Given the description of an element on the screen output the (x, y) to click on. 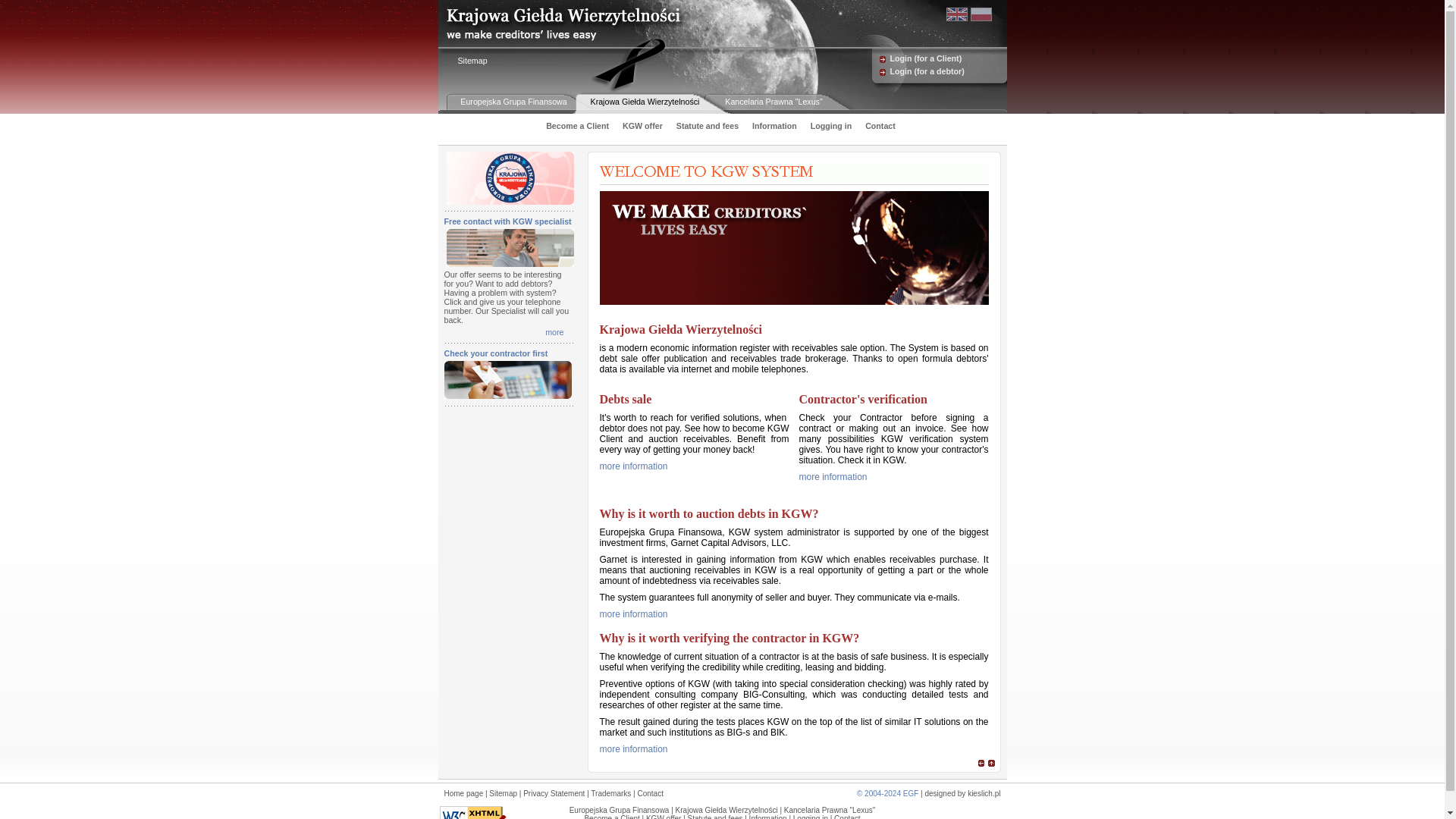
Why is it worth verifying the contractor in KGW? (728, 637)
We make creditors' lives easy (793, 247)
Statute and fees (703, 125)
KGW offer (638, 125)
English (957, 14)
more information (837, 476)
Europejska Grupa Finansowa (513, 104)
Information (770, 125)
Sitemap (466, 60)
Free consultations with KGW specialist (558, 331)
more information (637, 466)
Become our Client (637, 466)
Kancelaria Prawna "Lexus" (774, 104)
Contact (876, 125)
Logging in (826, 125)
